Given the description of an element on the screen output the (x, y) to click on. 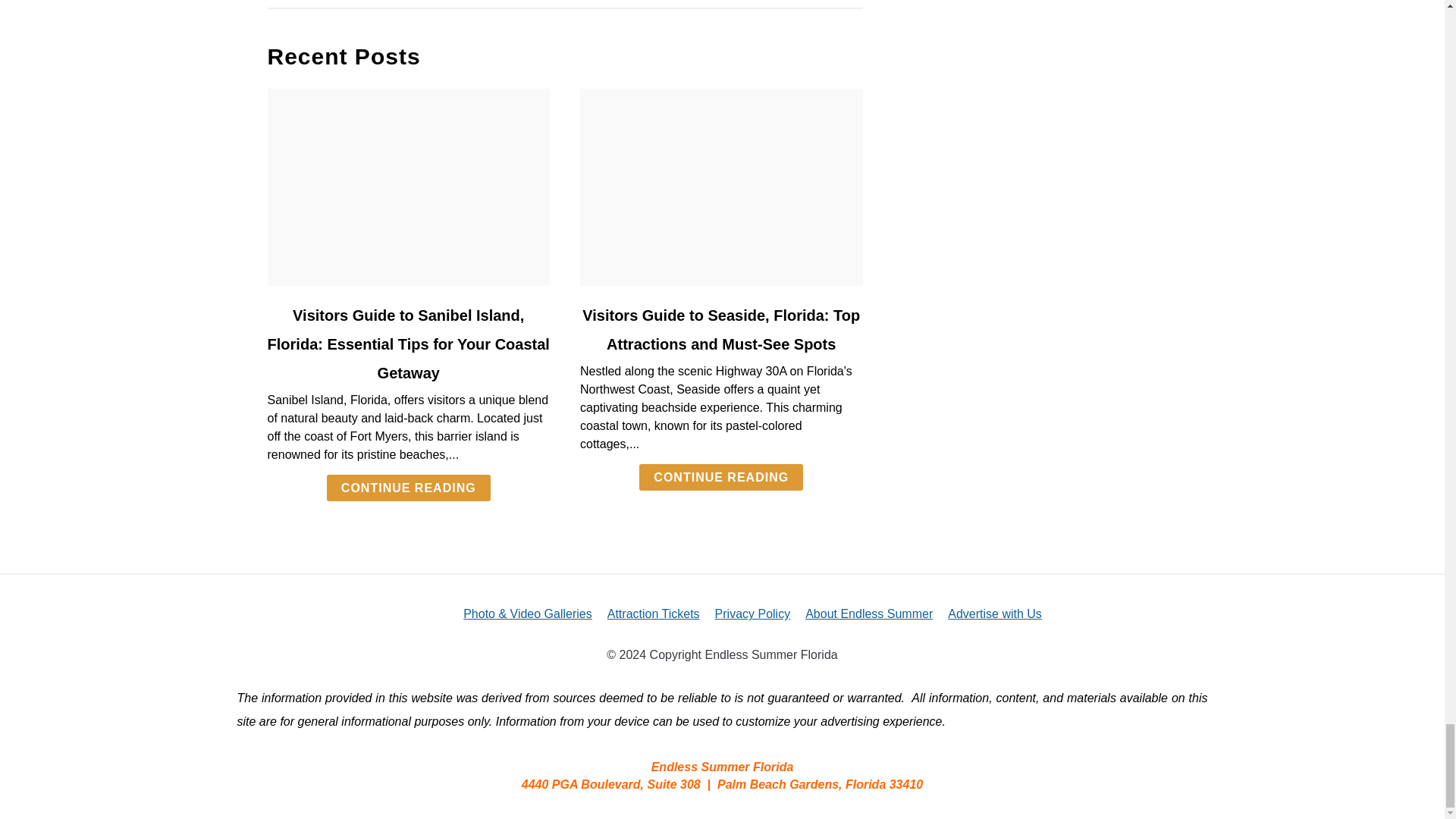
CONTINUE READING (721, 477)
Privacy Policy (752, 613)
Advertise with Us (994, 613)
About Endless Summer (869, 613)
CONTINUE READING (408, 488)
Attraction Tickets (653, 613)
